Given the description of an element on the screen output the (x, y) to click on. 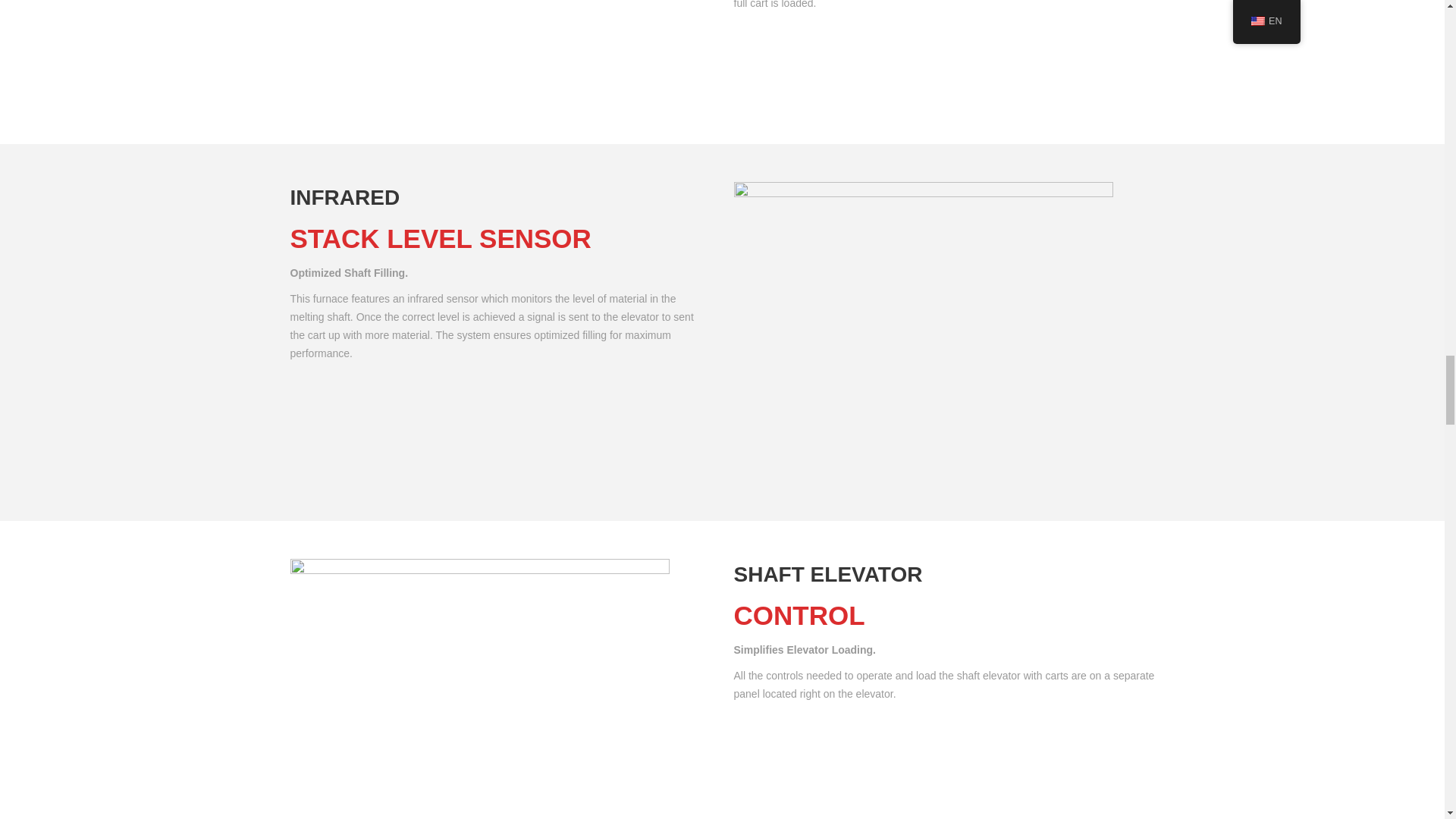
Infrared Sensor (923, 332)
Tower Elevator (478, 53)
Shaft Elevator Control (478, 688)
